Given the description of an element on the screen output the (x, y) to click on. 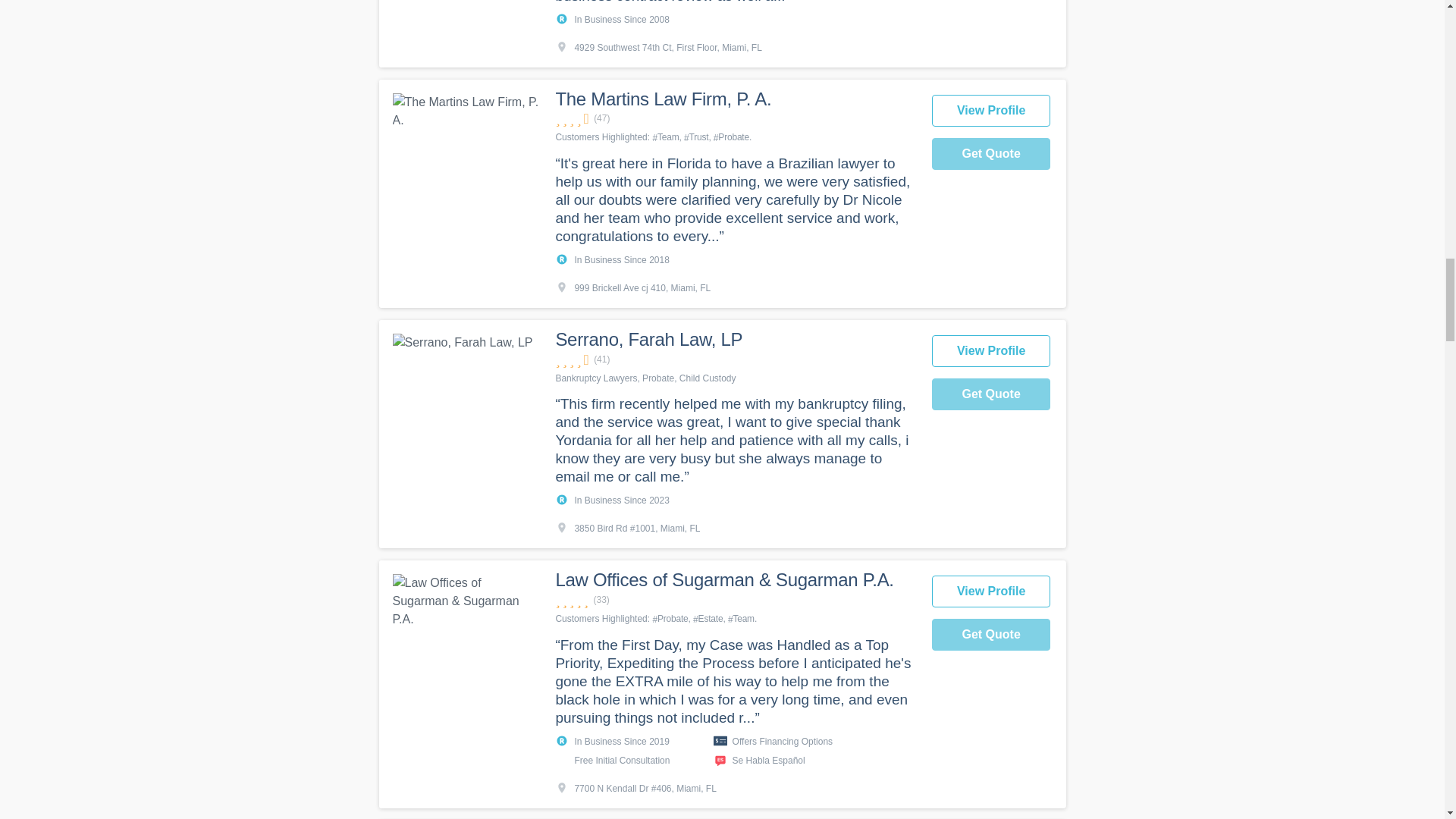
4.3 (734, 359)
5.0 (734, 599)
4.5 (734, 118)
